Given the description of an element on the screen output the (x, y) to click on. 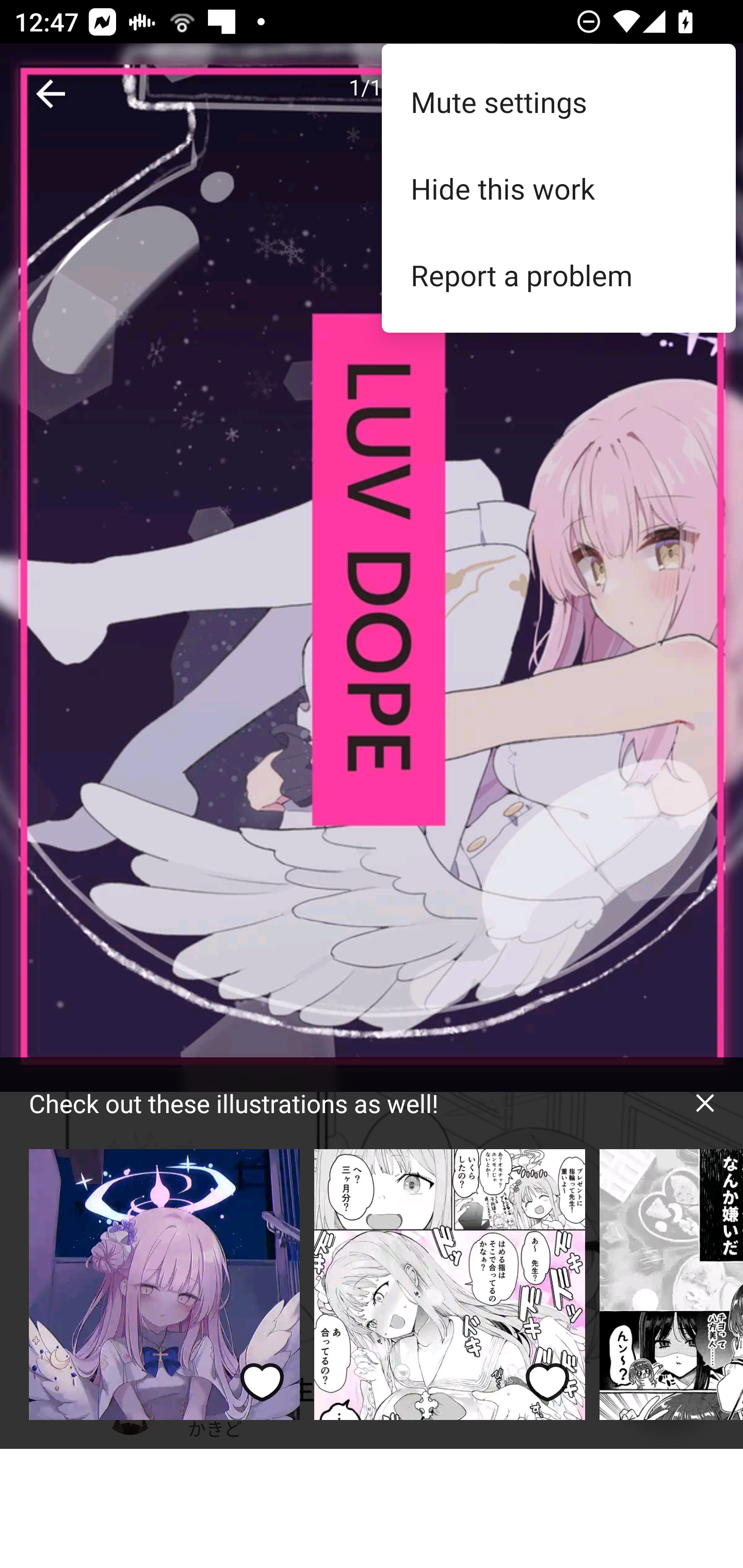
Mute settings (558, 101)
Hide this work (558, 188)
Report a problem (558, 275)
